Given the description of an element on the screen output the (x, y) to click on. 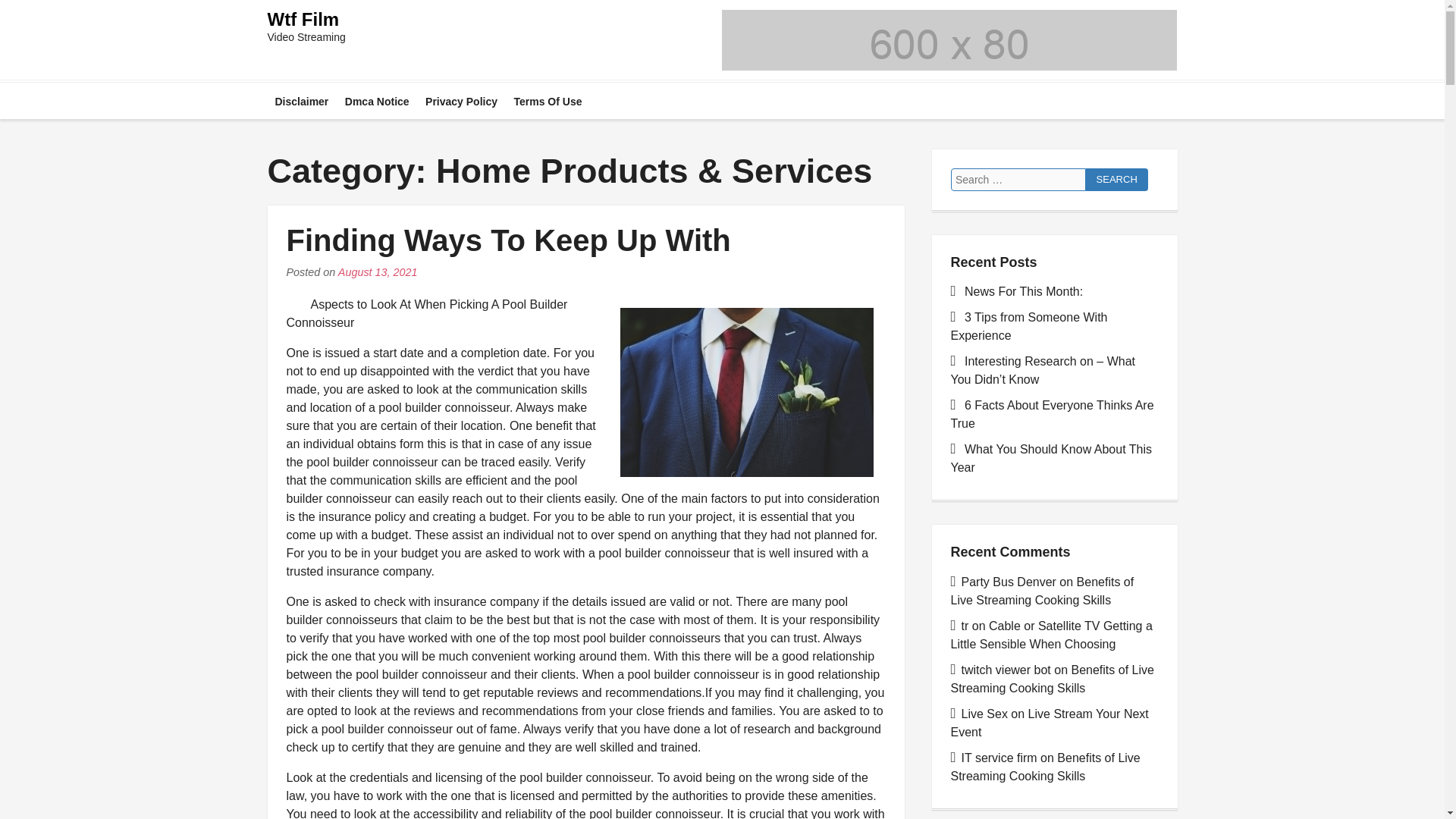
Terms Of Use (547, 100)
August 13, 2021 (377, 271)
Dmca Notice (376, 100)
Search (1117, 179)
Search (1117, 179)
Finding Ways To Keep Up With (508, 239)
Wtf Film (302, 19)
Privacy Policy (461, 100)
Disclaimer (301, 100)
